Given the description of an element on the screen output the (x, y) to click on. 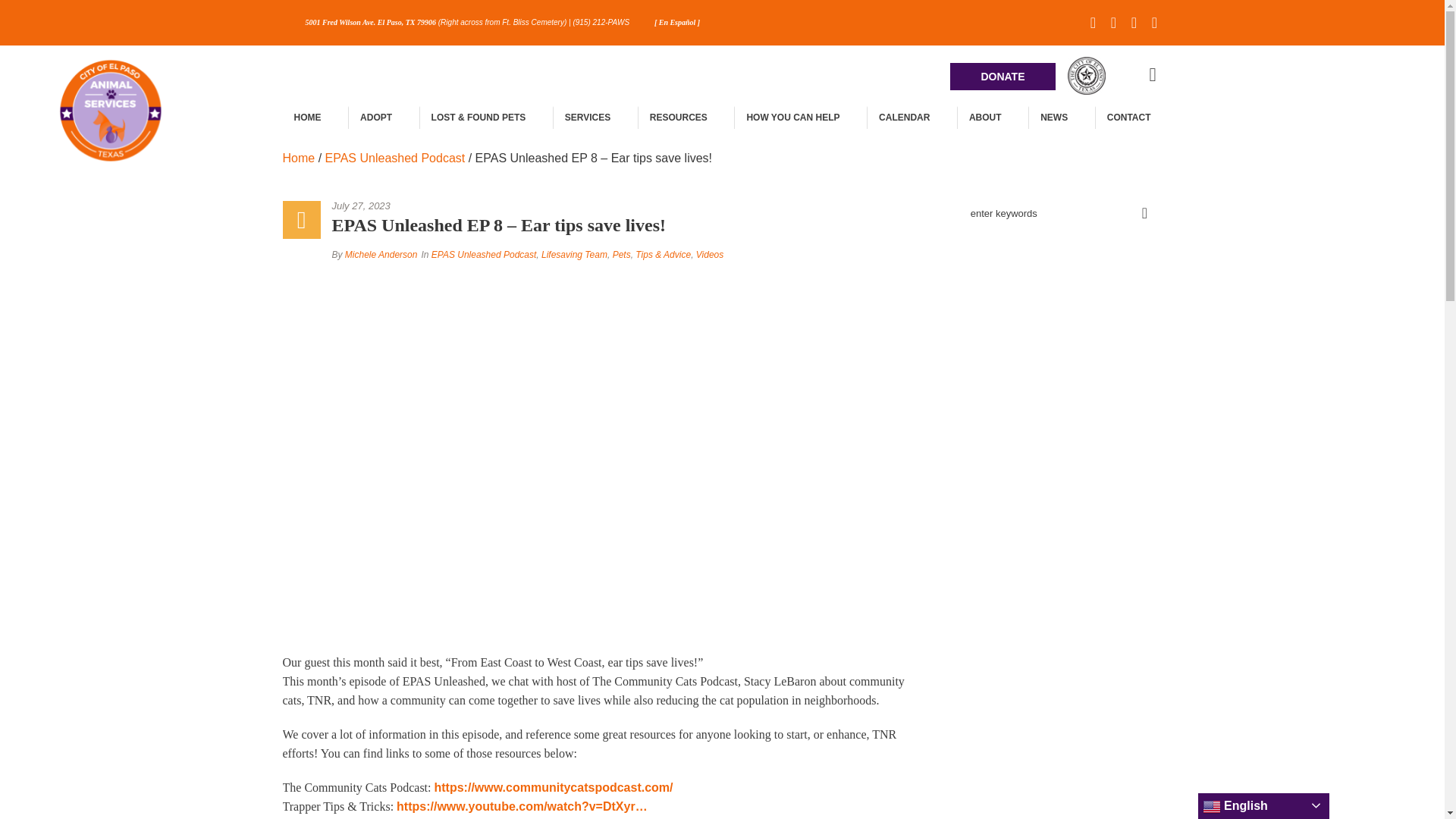
ADOPT (375, 117)
HOW YOU CAN HELP (791, 117)
ElPasoAnimalServicesInstagram (1154, 22)
ElPasoAnimalServicesYouTube (1133, 22)
DONATE (1002, 76)
RESOURCES (678, 117)
July 27, 2023 (623, 206)
ElPasoAnimalServicesFacebook (1093, 22)
SERVICES (587, 117)
Posts by Michele Anderson (381, 254)
ElPasoAnimalServicesTwitter (1113, 22)
HOME (306, 117)
